Given the description of an element on the screen output the (x, y) to click on. 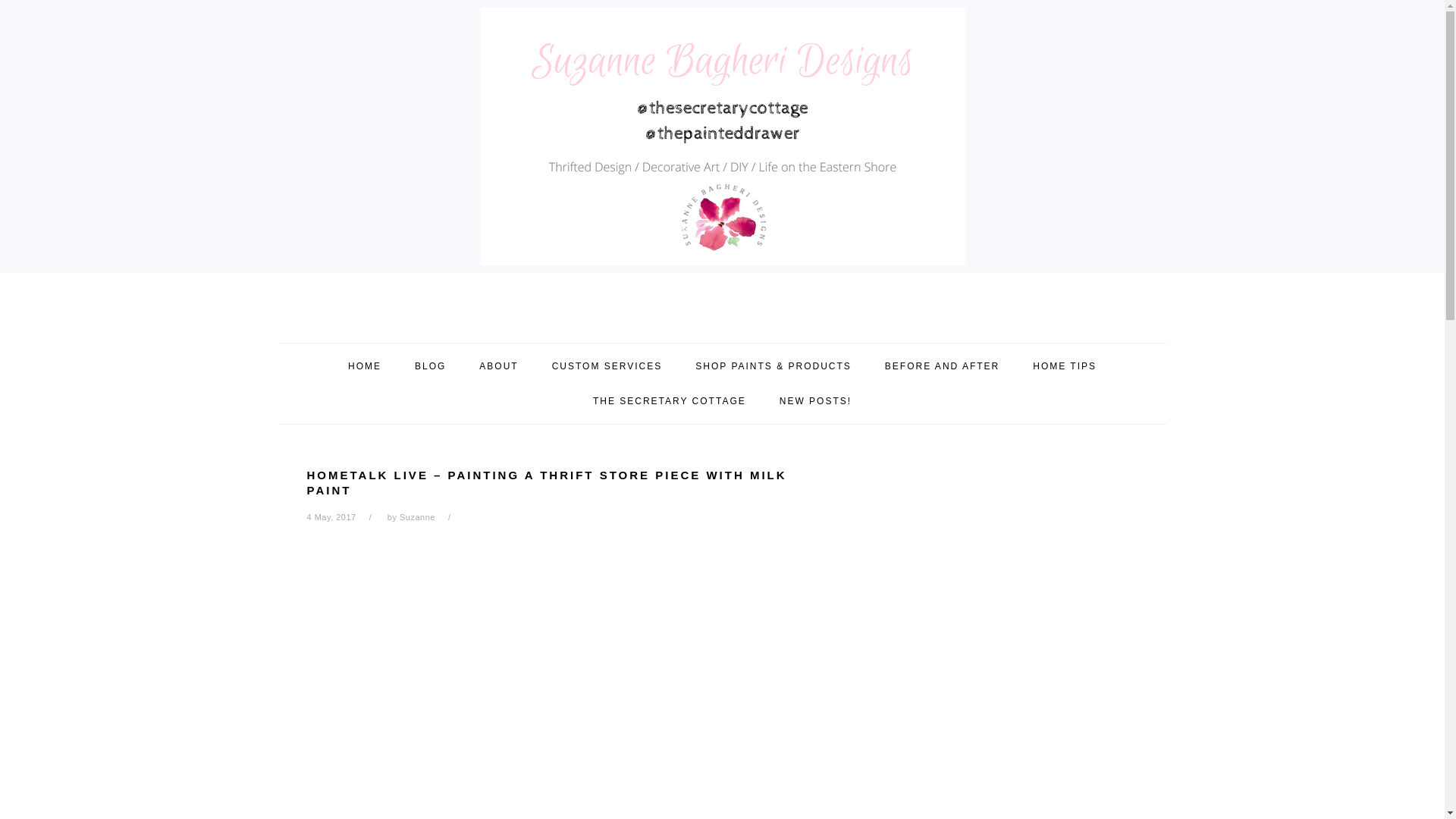
BEFORE AND AFTER (941, 366)
HOME (364, 366)
Advertisement (563, 787)
HOME TIPS (1064, 366)
THE SECRETARY COTTAGE (668, 401)
Advertisement (419, 647)
ABOUT (498, 366)
Suzanne (416, 516)
BLOG (429, 366)
CUSTOM SERVICES (606, 366)
